Given the description of an element on the screen output the (x, y) to click on. 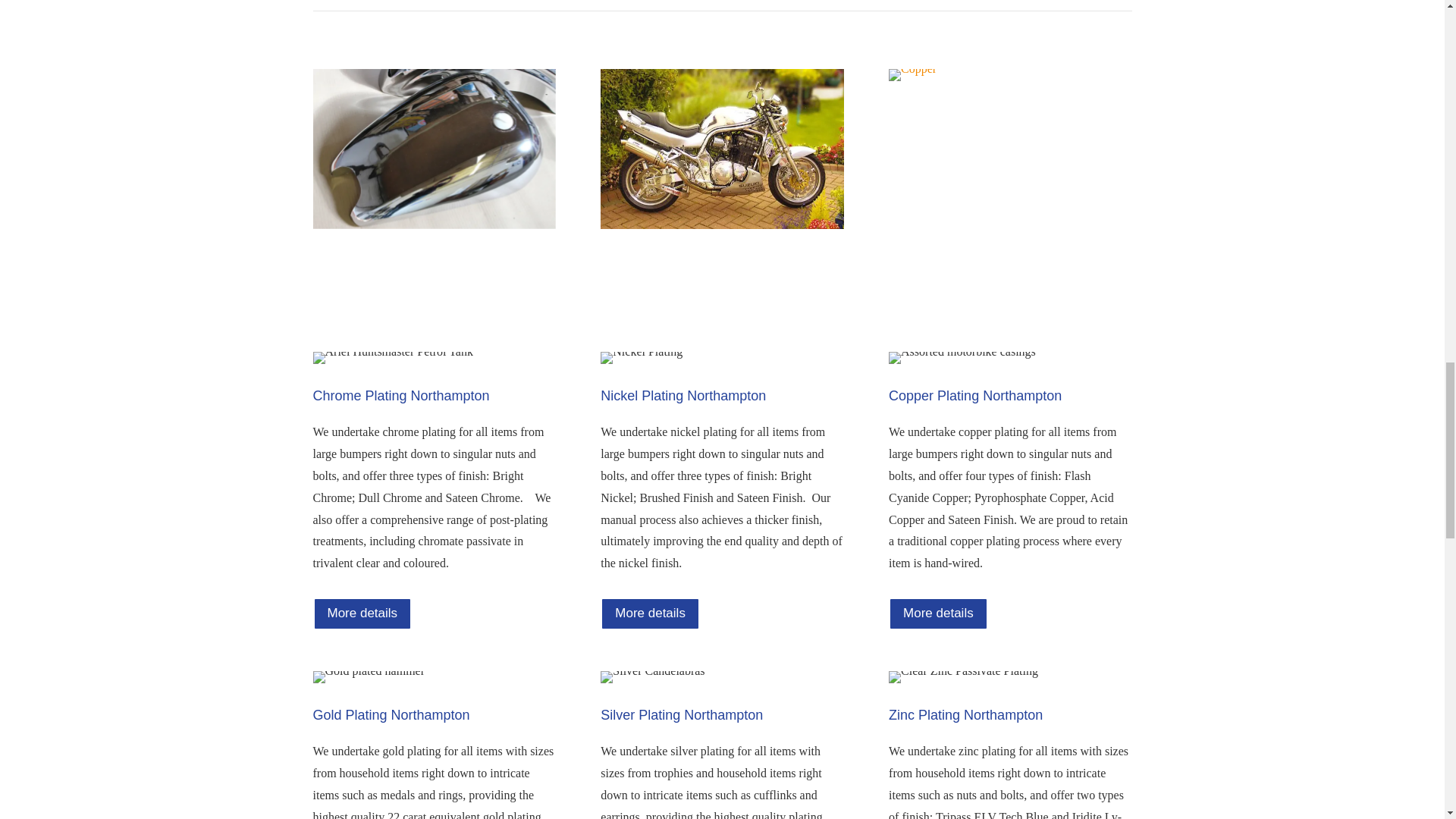
More details (649, 613)
More details (362, 613)
More details (938, 613)
